Given the description of an element on the screen output the (x, y) to click on. 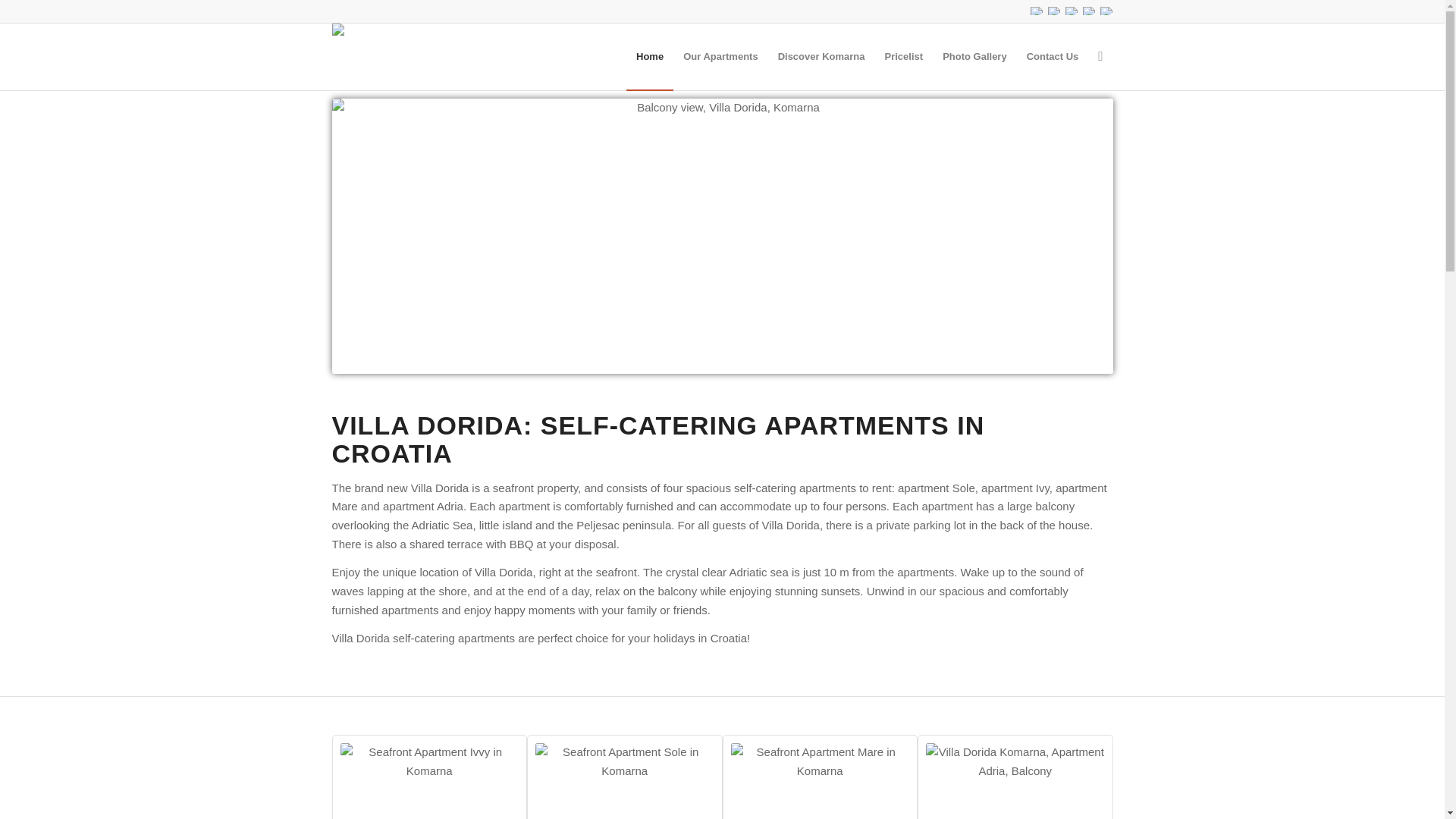
Photo Gallery (974, 56)
Apartment Adria - Balcony (1015, 780)
Our Apartments (719, 56)
Contact Us (1052, 56)
Italiano (1071, 10)
Hrvatski (1087, 10)
Discover Komarna (821, 56)
English (1036, 10)
Seafront Apartment Ivvy in Komarna (428, 780)
